Given the description of an element on the screen output the (x, y) to click on. 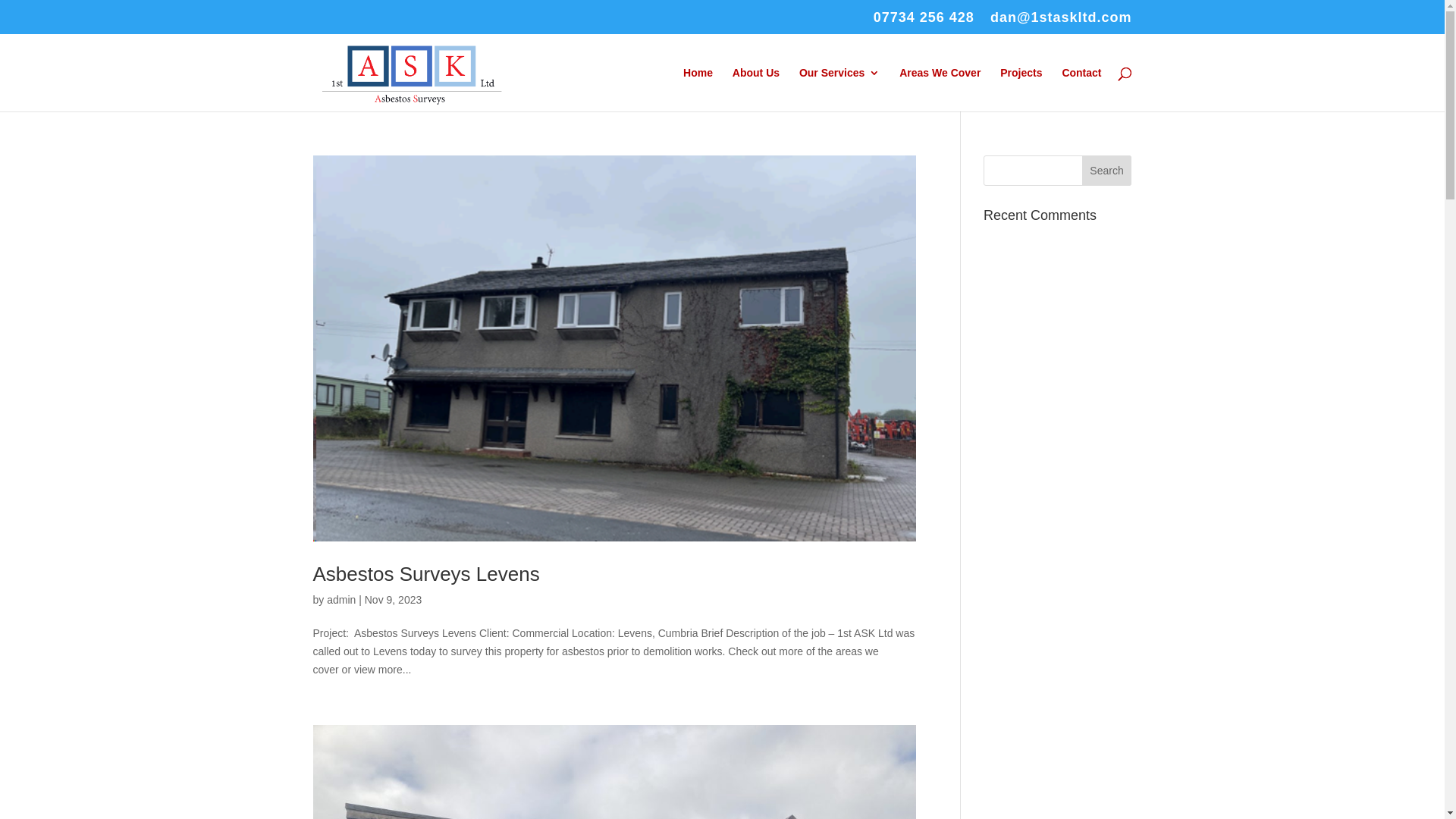
Projects Element type: text (1020, 89)
Contact Element type: text (1081, 89)
About Us Element type: text (755, 89)
Search Element type: text (1107, 170)
07734 256 428 Element type: text (923, 22)
Our Services Element type: text (839, 89)
Home Element type: text (697, 89)
admin Element type: text (340, 599)
Areas We Cover Element type: text (939, 89)
dan@1staskltd.com Element type: text (1061, 22)
Asbestos Surveys Levens Element type: text (425, 573)
